Given the description of an element on the screen output the (x, y) to click on. 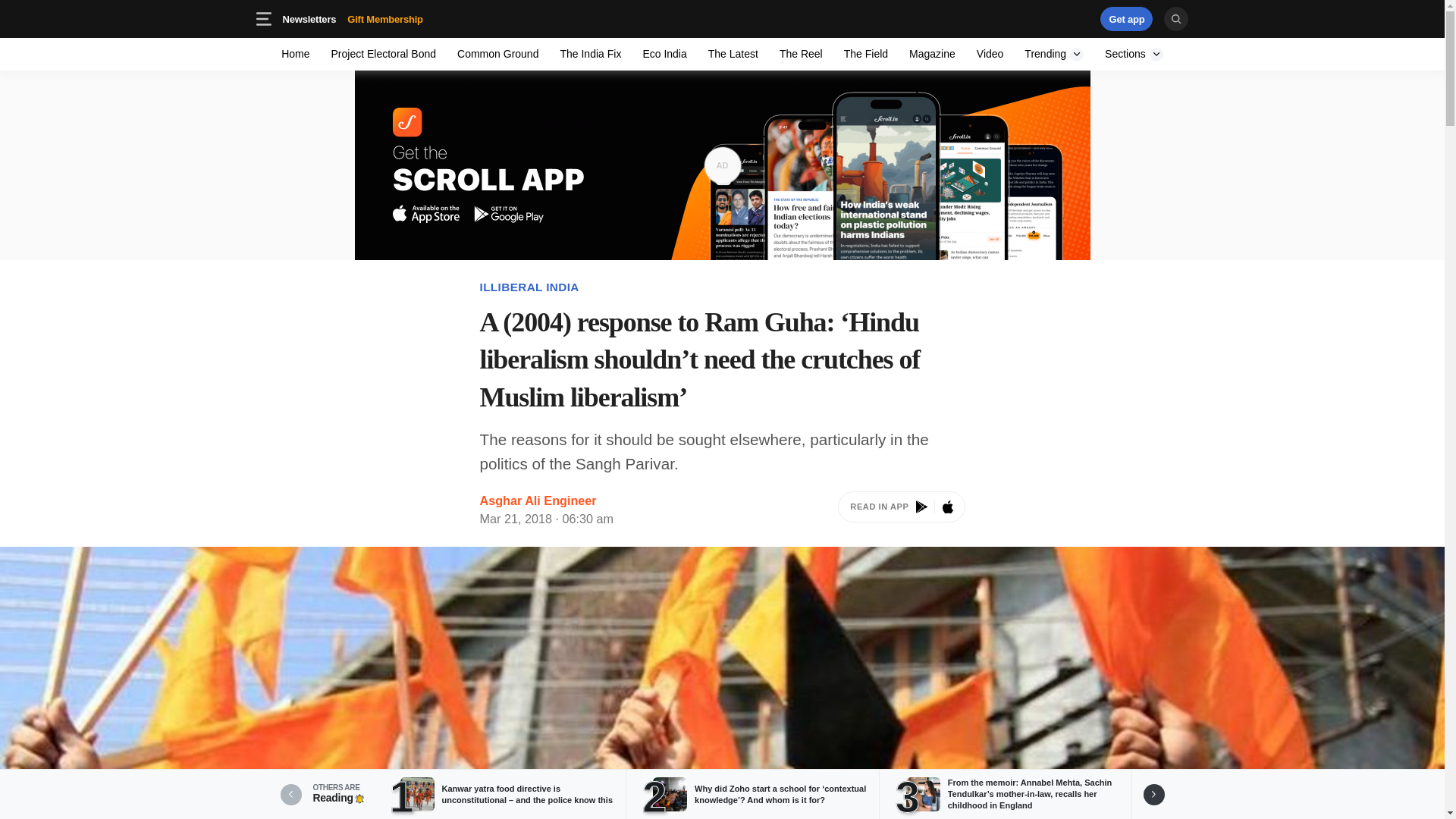
Get app (721, 18)
Sections (1126, 18)
The Field (1134, 53)
Home (865, 53)
Video (295, 53)
Get app (990, 53)
Common Ground (1035, 18)
Trending (497, 53)
READ IN APP (1053, 53)
Get app (409, 18)
Eco India (900, 509)
Trending (1126, 18)
3rd party ad content (664, 53)
